Given the description of an element on the screen output the (x, y) to click on. 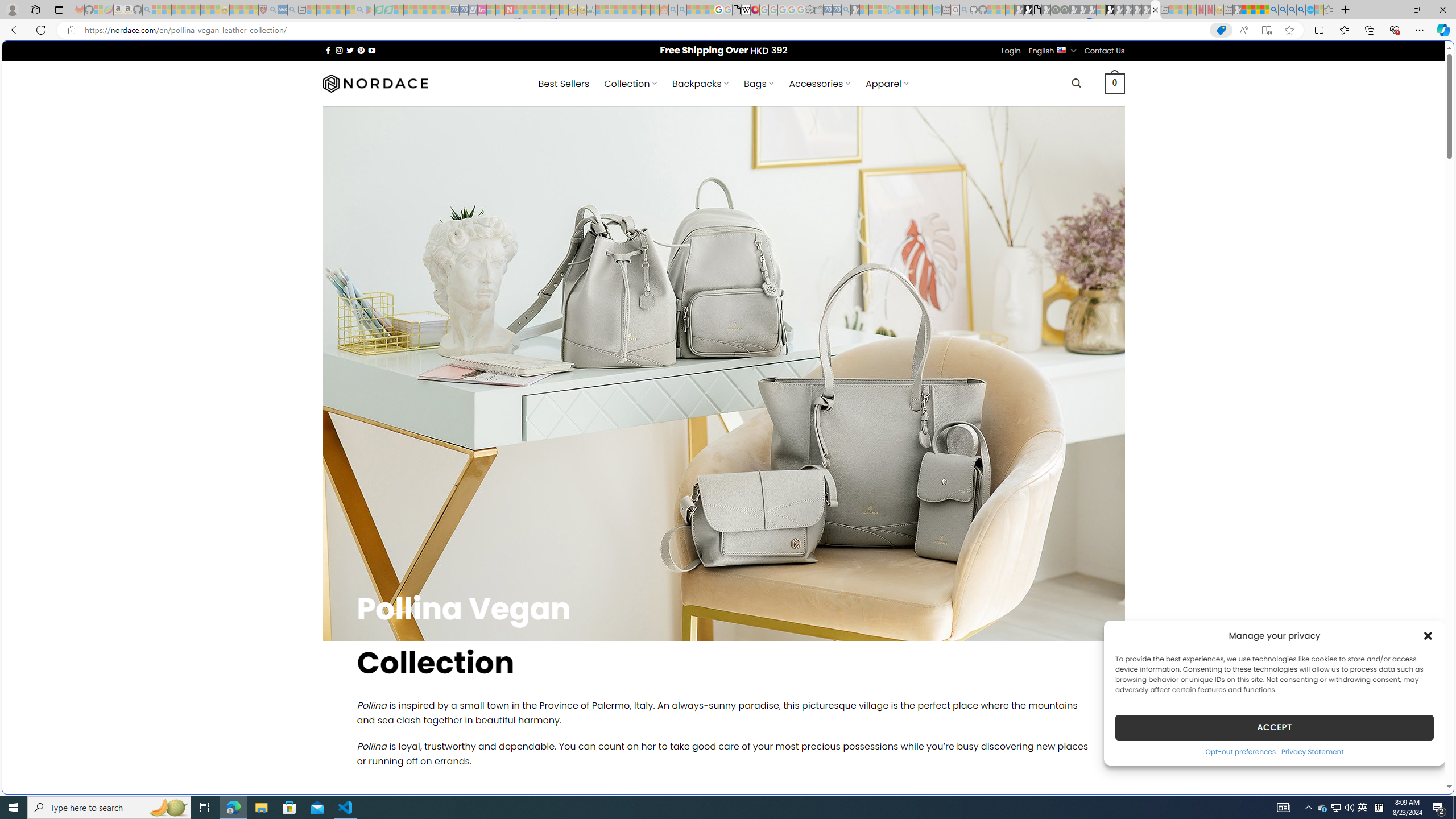
Jobs - lastminute.com Investor Portal - Sleeping (482, 9)
Home | Sky Blue Bikes - Sky Blue Bikes (1118, 242)
Follow on Instagram (338, 49)
utah sues federal government - Search - Sleeping (291, 9)
github - Search - Sleeping (964, 9)
Follow on YouTube (371, 49)
